Given the description of an element on the screen output the (x, y) to click on. 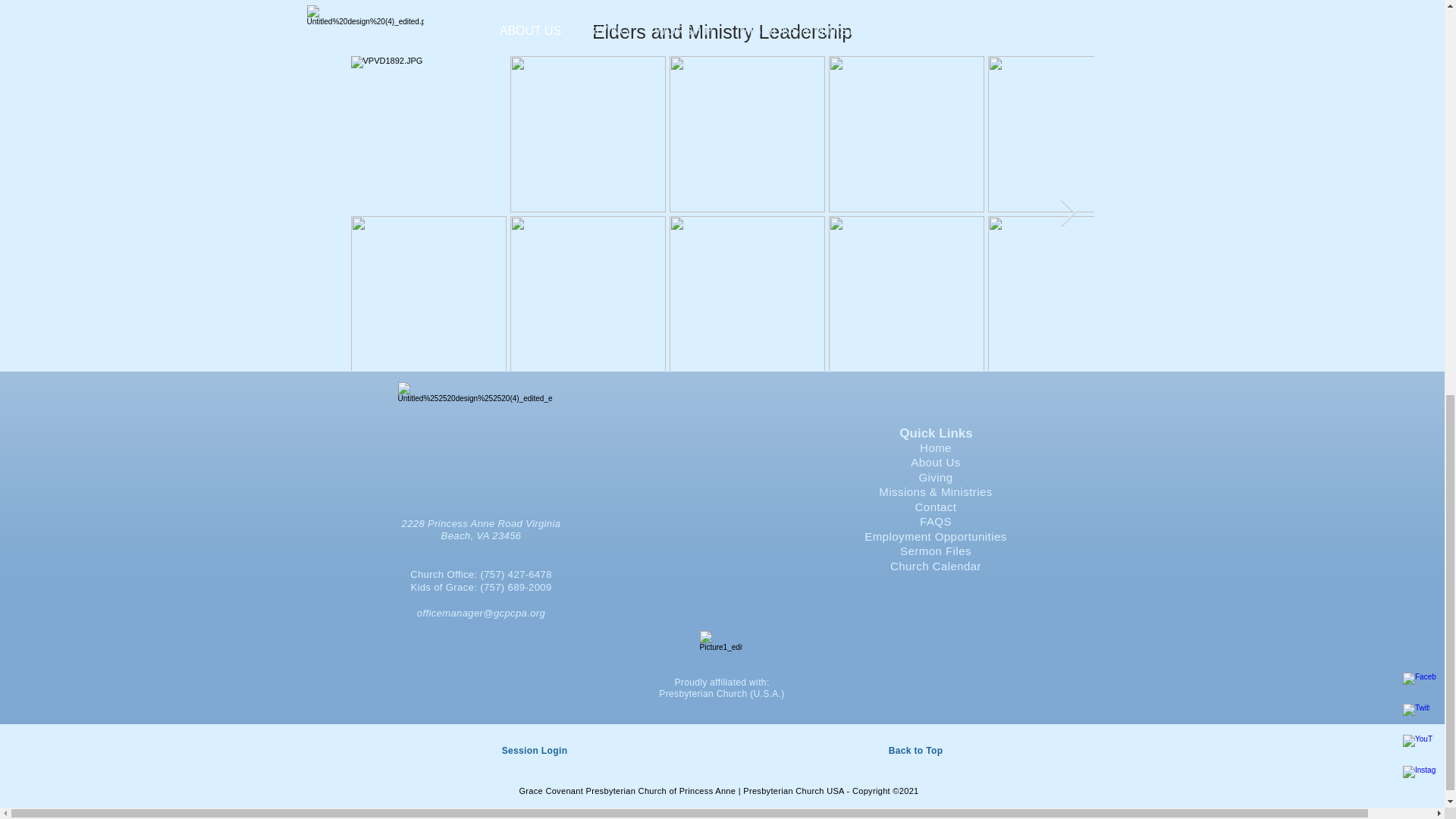
Giving (935, 477)
About Us (935, 461)
Home (936, 447)
